Given the description of an element on the screen output the (x, y) to click on. 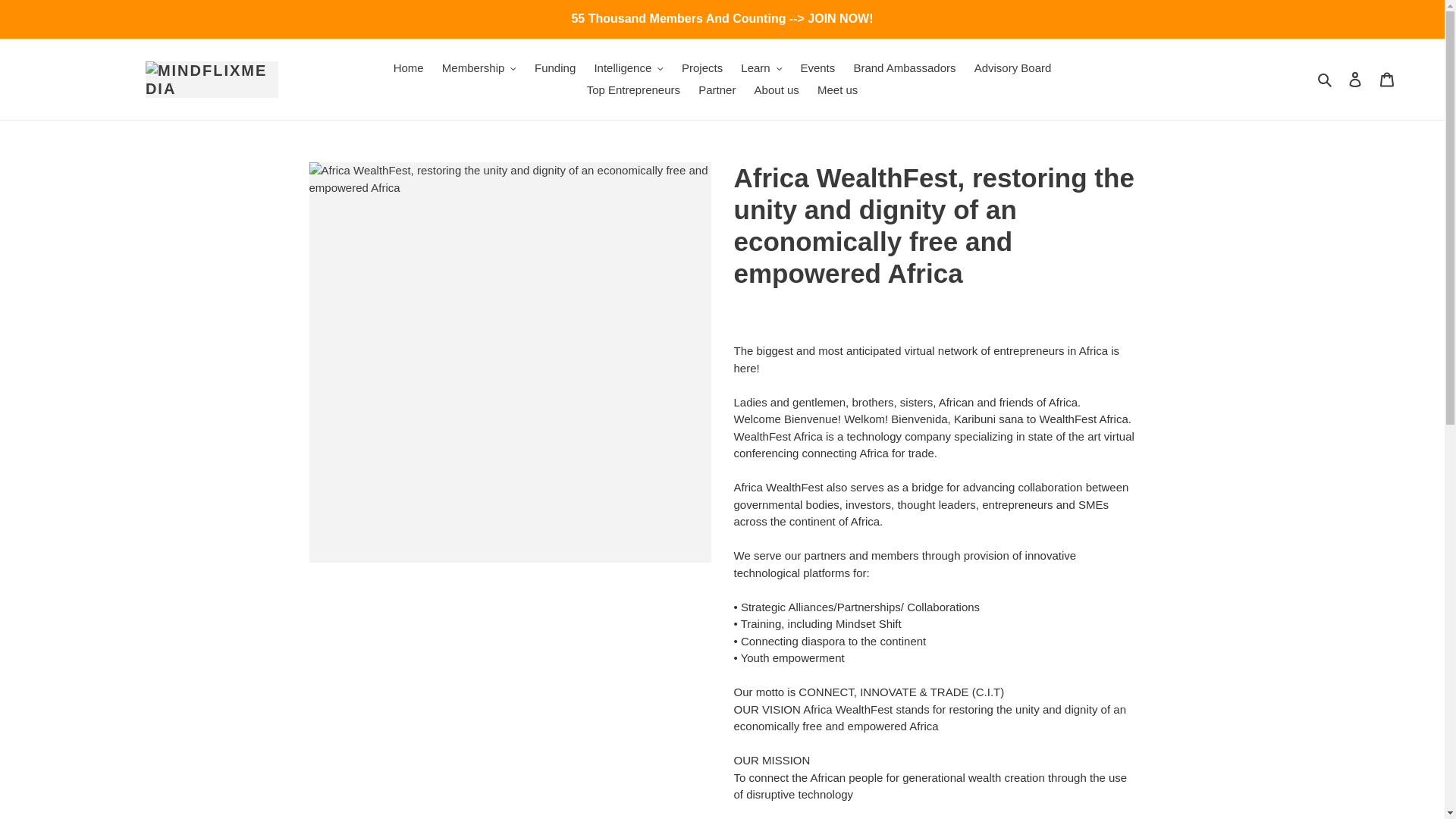
Events (817, 68)
Home (407, 68)
Learn (761, 68)
Brand Ambassadors (903, 68)
Top Entrepreneurs (633, 89)
Funding (555, 68)
Membership (478, 68)
Advisory Board (1012, 68)
Projects (702, 68)
Intelligence (627, 68)
